Given the description of an element on the screen output the (x, y) to click on. 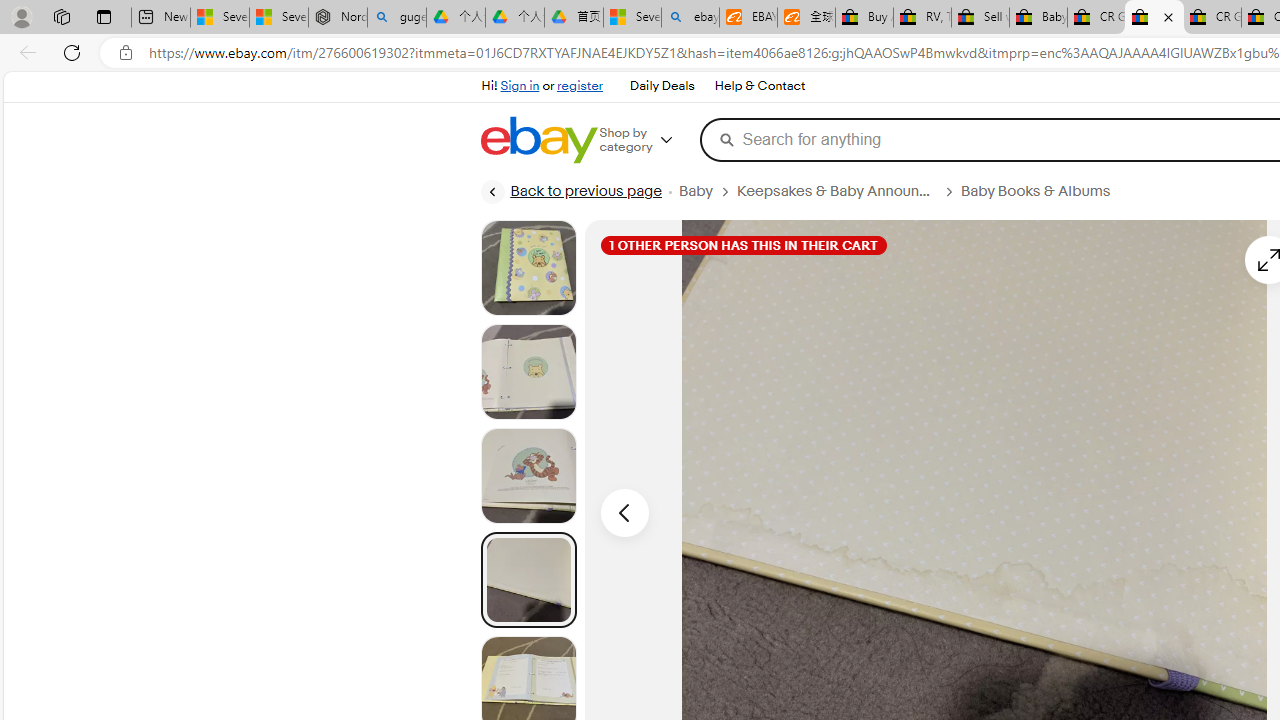
Picture 1 of 22 (528, 268)
Sign in (520, 85)
Picture 3 of 22 (528, 475)
Picture 4 of 22 (528, 579)
Help & Contact (758, 85)
Picture 2 of 22 (528, 371)
Sell worldwide with eBay (980, 17)
Baby (695, 191)
RV, Trailer & Camper Steps & Ladders for sale | eBay (922, 17)
Picture 3 of 22 (528, 475)
eBay Home (538, 139)
